Given the description of an element on the screen output the (x, y) to click on. 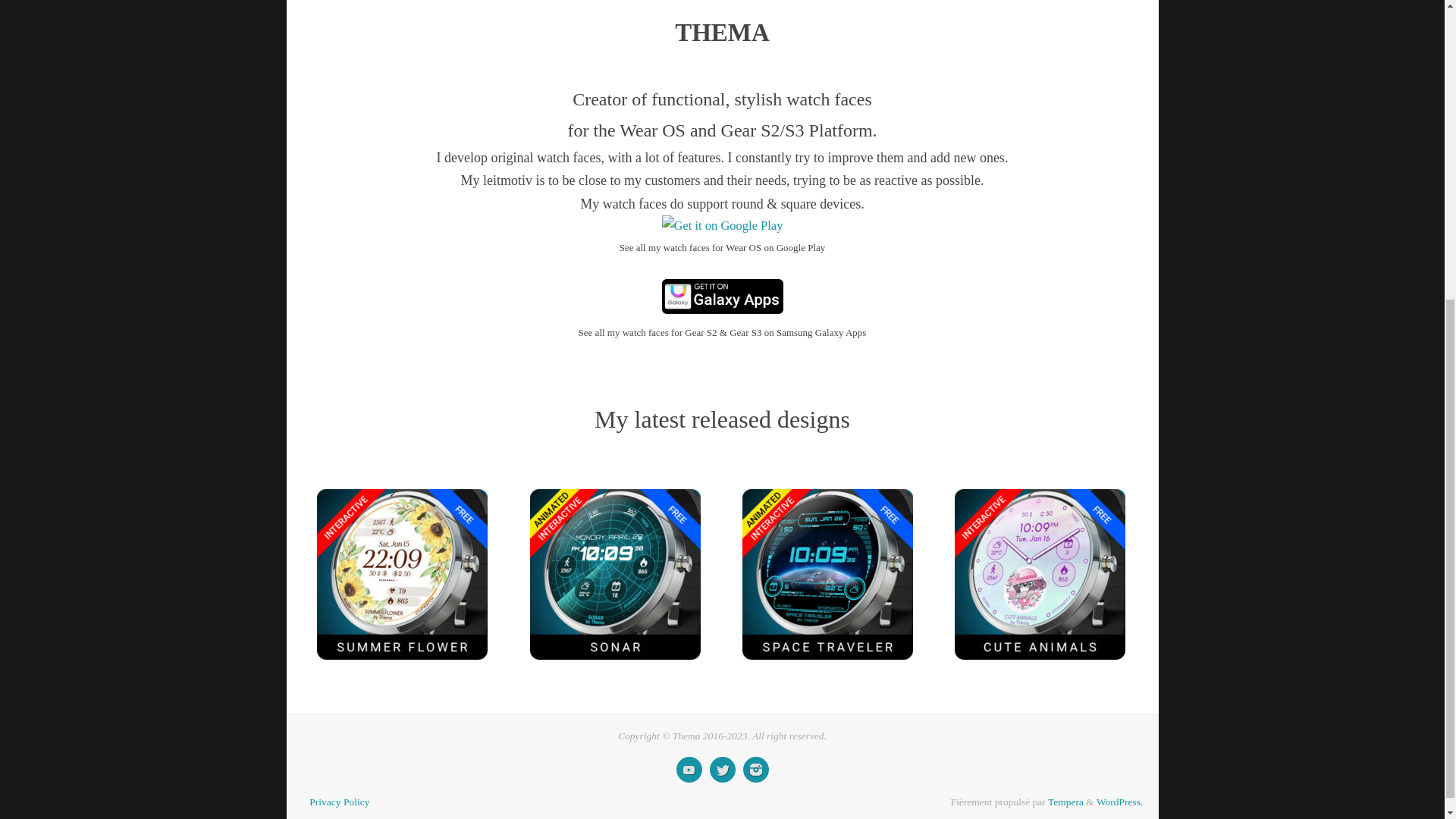
Instagram (755, 769)
Tempera Theme by Cryout Creations (1065, 801)
Twitter (722, 769)
YouTube (689, 769)
